Given the description of an element on the screen output the (x, y) to click on. 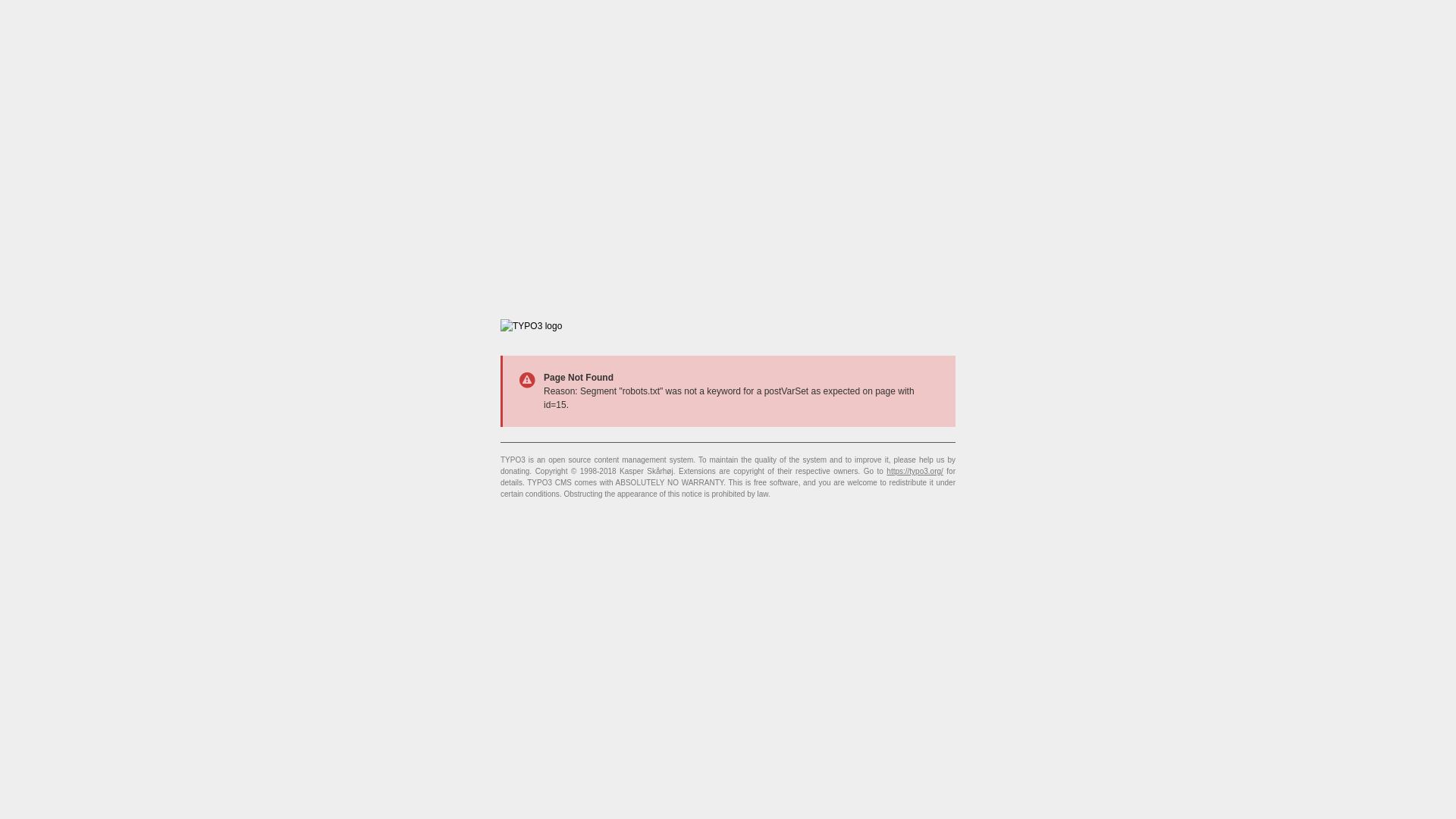
https://typo3.org/ Element type: text (914, 471)
